Given the description of an element on the screen output the (x, y) to click on. 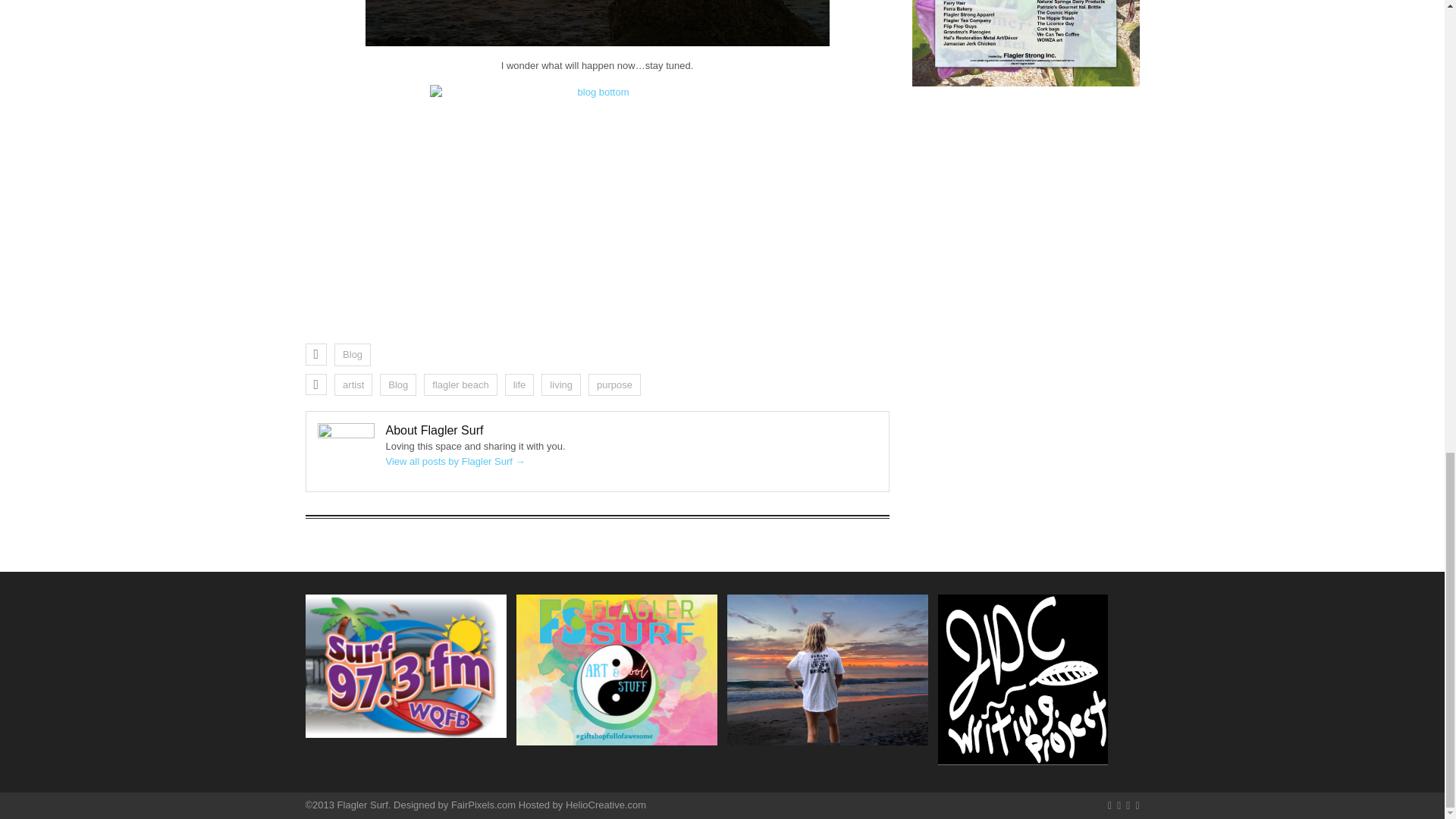
living (560, 384)
artist (353, 384)
flagler beach (459, 384)
life (519, 384)
Blog (398, 384)
Blog (352, 354)
purpose (614, 384)
